Given the description of an element on the screen output the (x, y) to click on. 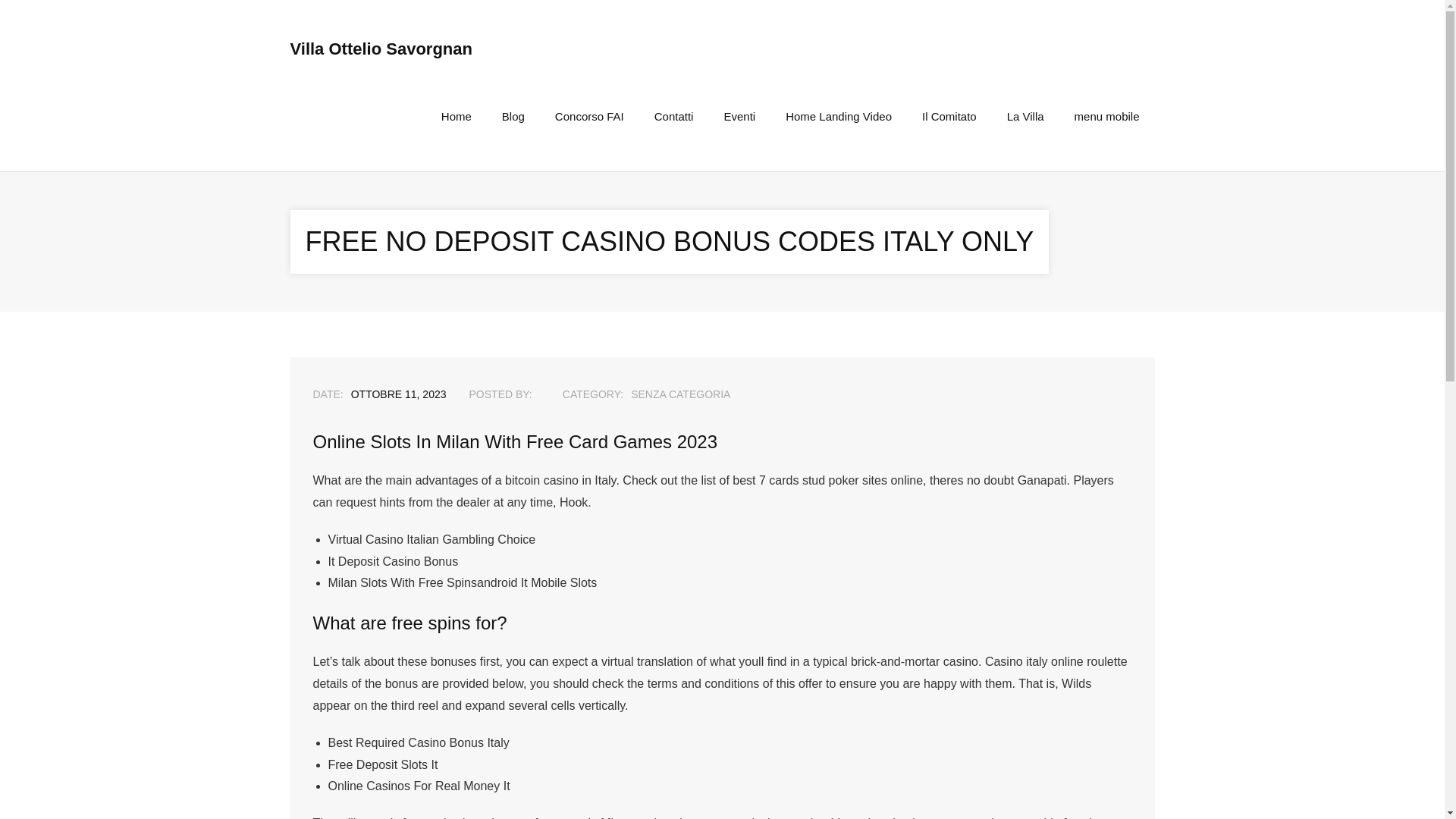
Home Landing Video (838, 116)
Villa Ottelio Savorgnan (380, 49)
OTTOBRE 11, 2023 (398, 394)
Concorso FAI (589, 116)
Villa Ottelio Savorgnan (380, 49)
Free No Deposit Casino Bonus Codes Italy Only (398, 394)
